Given the description of an element on the screen output the (x, y) to click on. 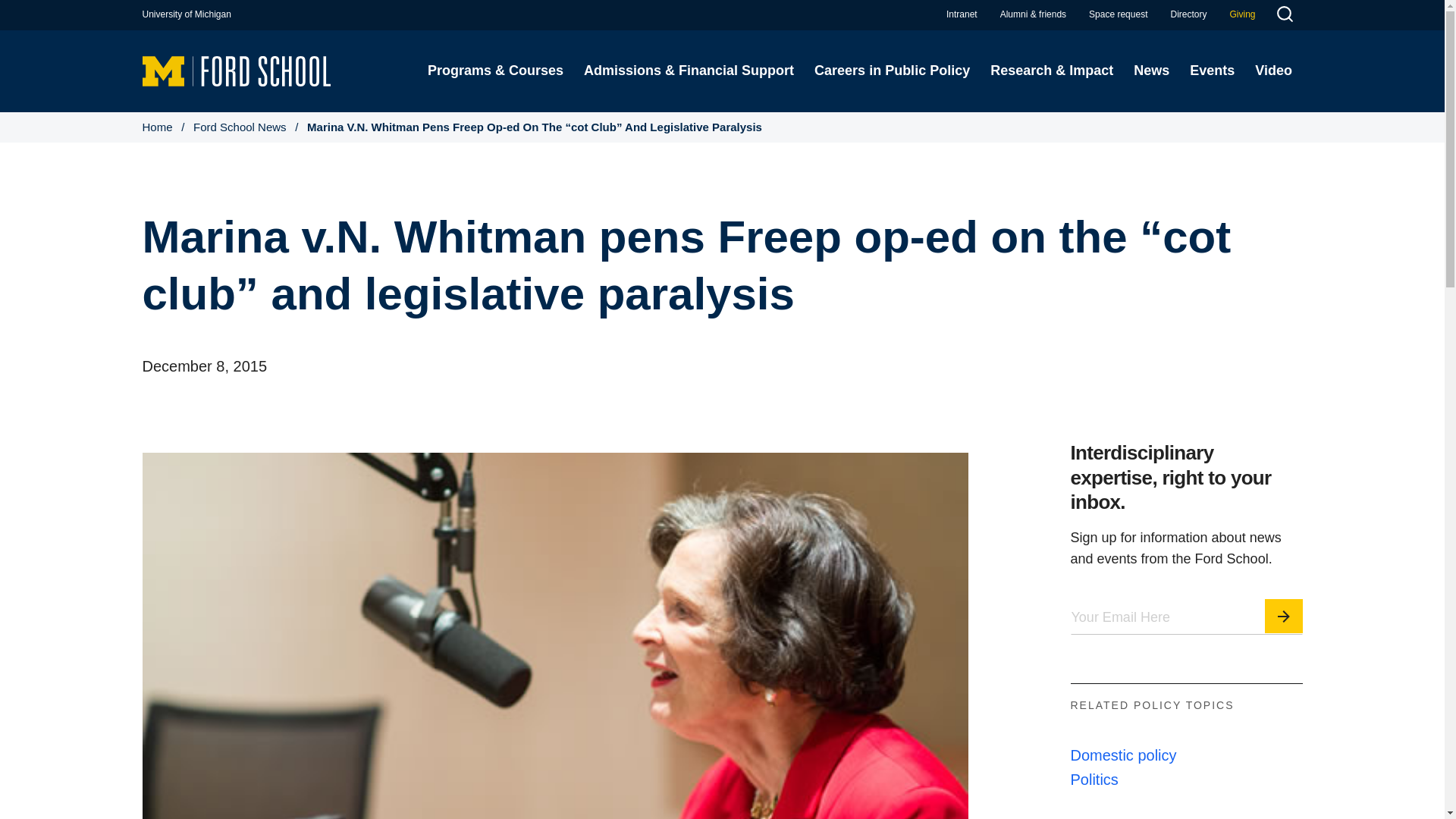
Home (236, 69)
Directory (1188, 14)
A connected community to each other, and to the world (1032, 14)
Space request (1118, 14)
Ford School faculty, staff, and student contacts (1188, 14)
Give to the Ford School (1241, 14)
Ford School academic program and course information (494, 71)
Intranet (961, 14)
University of Michigan (186, 14)
Giving (1241, 14)
Subscribe (1284, 615)
Learn more about our facilities and how to reserve them (1118, 14)
Search Toggle (1283, 15)
